Given the description of an element on the screen output the (x, y) to click on. 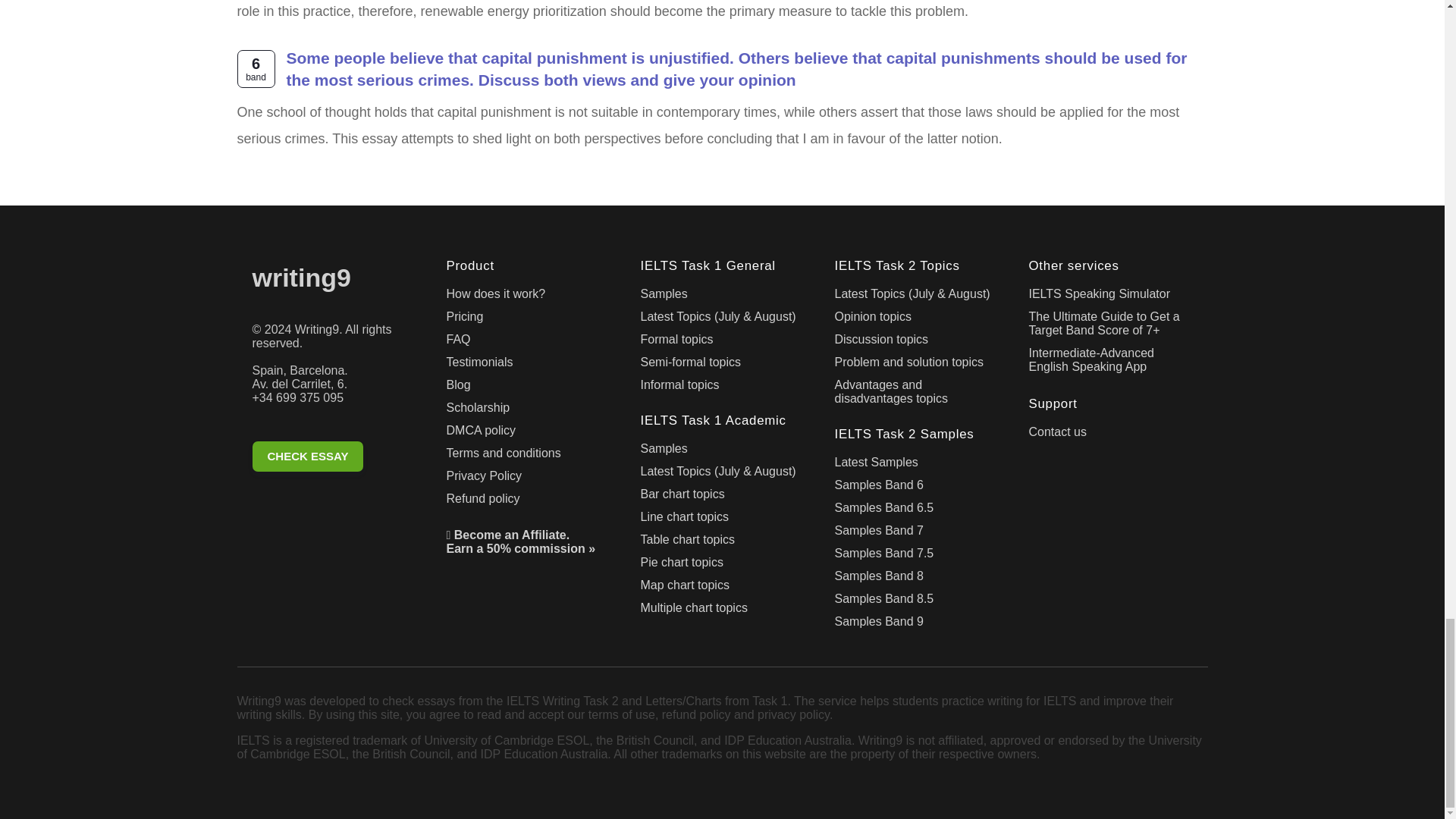
IELTS Task 2 Opinion topics (915, 319)
Privacy Policy (527, 478)
IELTS Task 2 Latest Samples (915, 465)
IELTS Task 2 Problem and solution topics (915, 364)
FAQ (527, 342)
IELTS Task 1 General Semi-formal topics (721, 364)
IELTS Task 1 Academic Samples (721, 451)
IELTS Task 1 General Samples (721, 296)
IELTS Task 1 General Formal topics (721, 342)
Terms and conditions (527, 456)
IELTS Task 1 Academic Table chart topics (721, 542)
IELTS Task 2 Latest Topics (915, 296)
CHECK ESSAY (332, 459)
Pricing (527, 319)
